Given the description of an element on the screen output the (x, y) to click on. 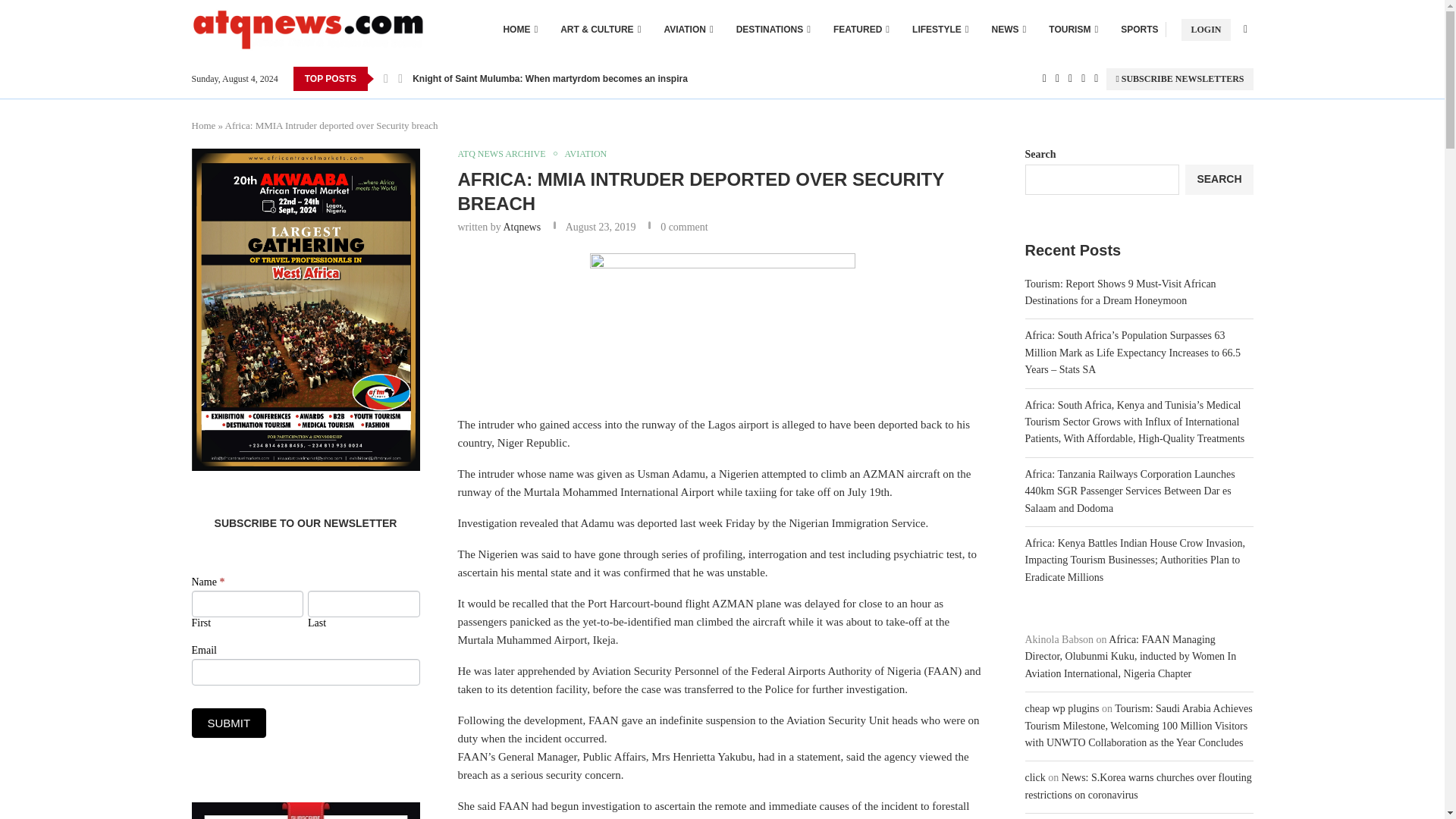
Man-on-Aircraft-Lagos-Airport (722, 324)
